Given the description of an element on the screen output the (x, y) to click on. 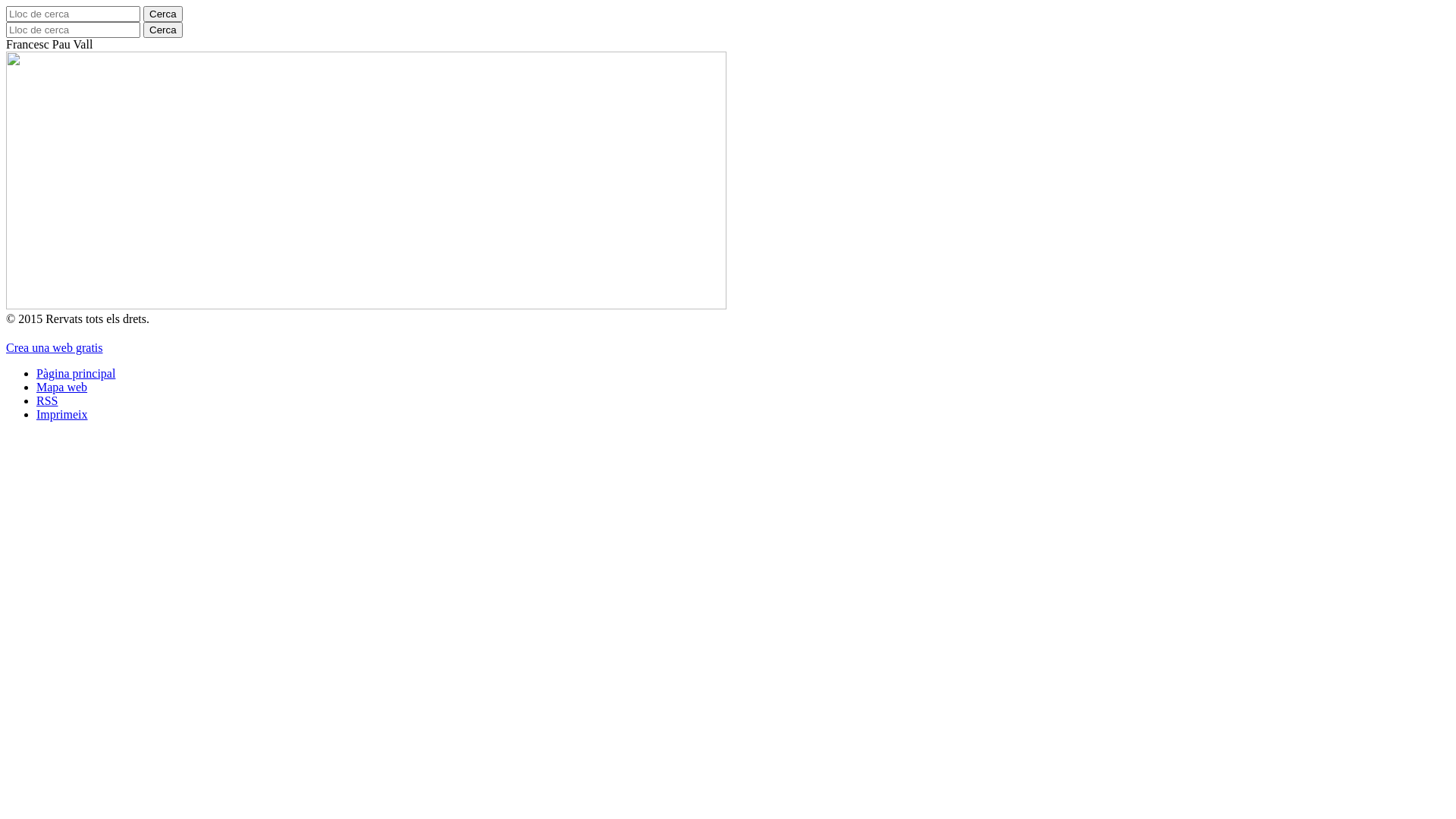
Cerca Element type: text (162, 29)
Imprimeix Element type: text (61, 413)
RSS Element type: text (46, 400)
Crea una web gratis Element type: text (54, 347)
Mapa web Element type: text (61, 386)
Cerca Element type: text (162, 13)
